Given the description of an element on the screen output the (x, y) to click on. 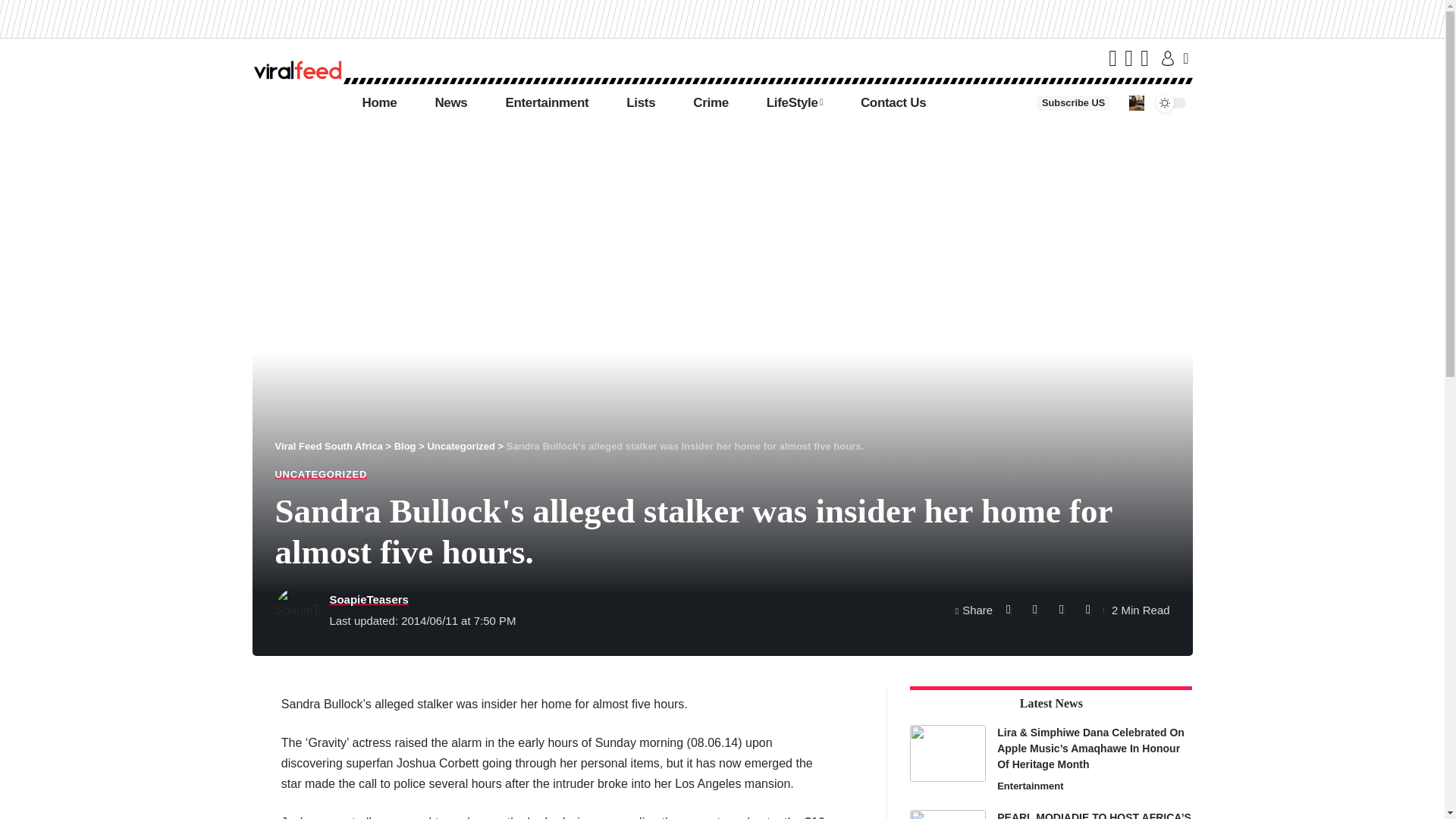
News (450, 103)
LifeStyle (794, 103)
Home (378, 103)
Subscribe US (1072, 103)
UNCATEGORIZED (320, 474)
Viral Feed South Africa (328, 446)
Go to Viral Feed South Africa. (328, 446)
SoapieTeasers (368, 599)
Go to Blog. (405, 446)
Contact Us (892, 103)
Blog (405, 446)
Uncategorized (460, 446)
Crime (711, 103)
Lists (640, 103)
Entertainment (546, 103)
